Given the description of an element on the screen output the (x, y) to click on. 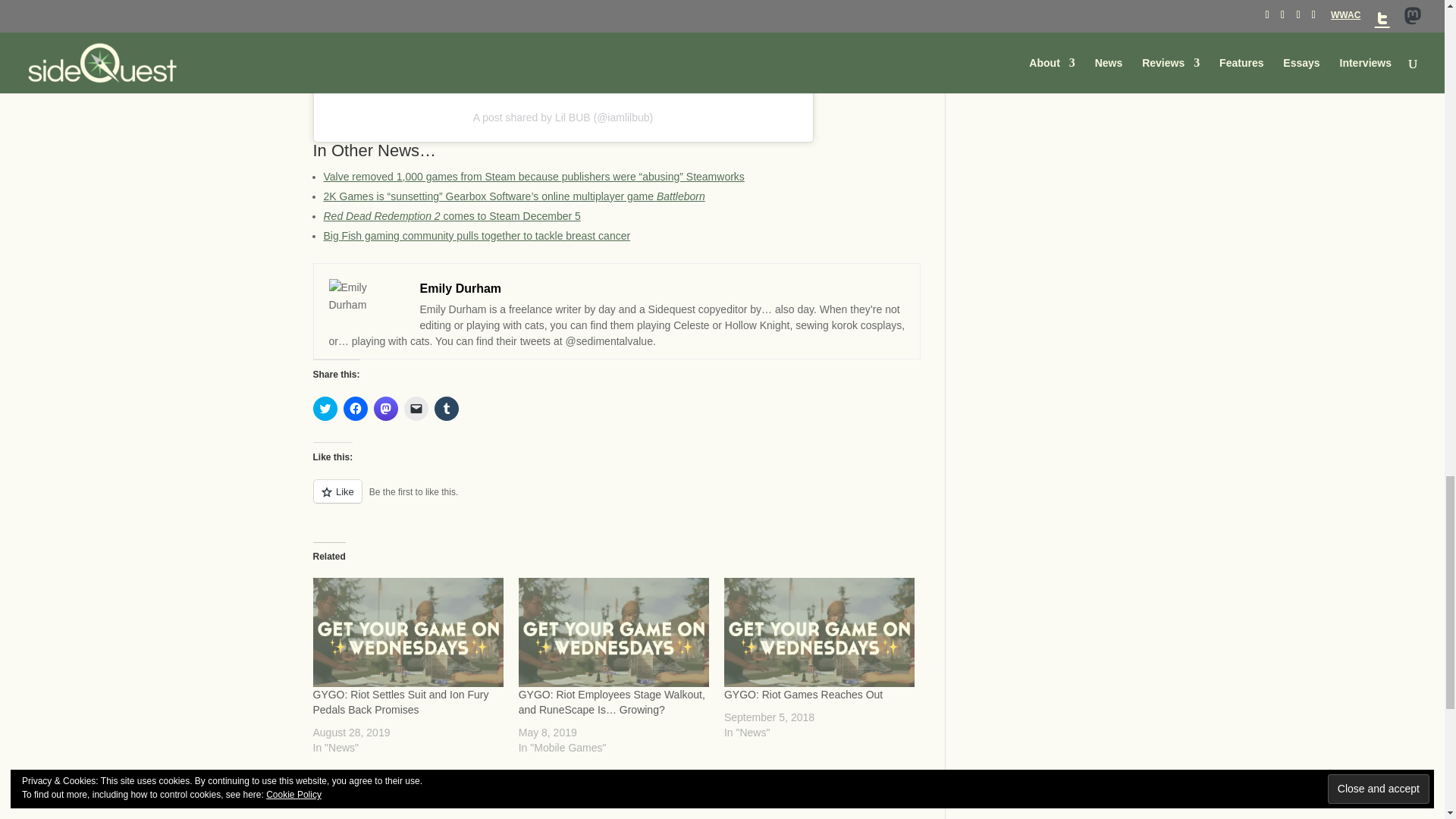
Click to email a link to a friend (415, 408)
Click to share on Mastodon (384, 408)
Like or Reblog (616, 499)
GYGO: Riot Games Reaches Out (818, 632)
GYGO: Riot Settles Suit and Ion Fury Pedals Back Promises (400, 701)
Click to share on Facebook (354, 408)
Click to share on Twitter (324, 408)
Click to share on Tumblr (445, 408)
GYGO: Riot Settles Suit and Ion Fury Pedals Back Promises (407, 632)
GYGO: Riot Games Reaches Out (802, 694)
